Given the description of an element on the screen output the (x, y) to click on. 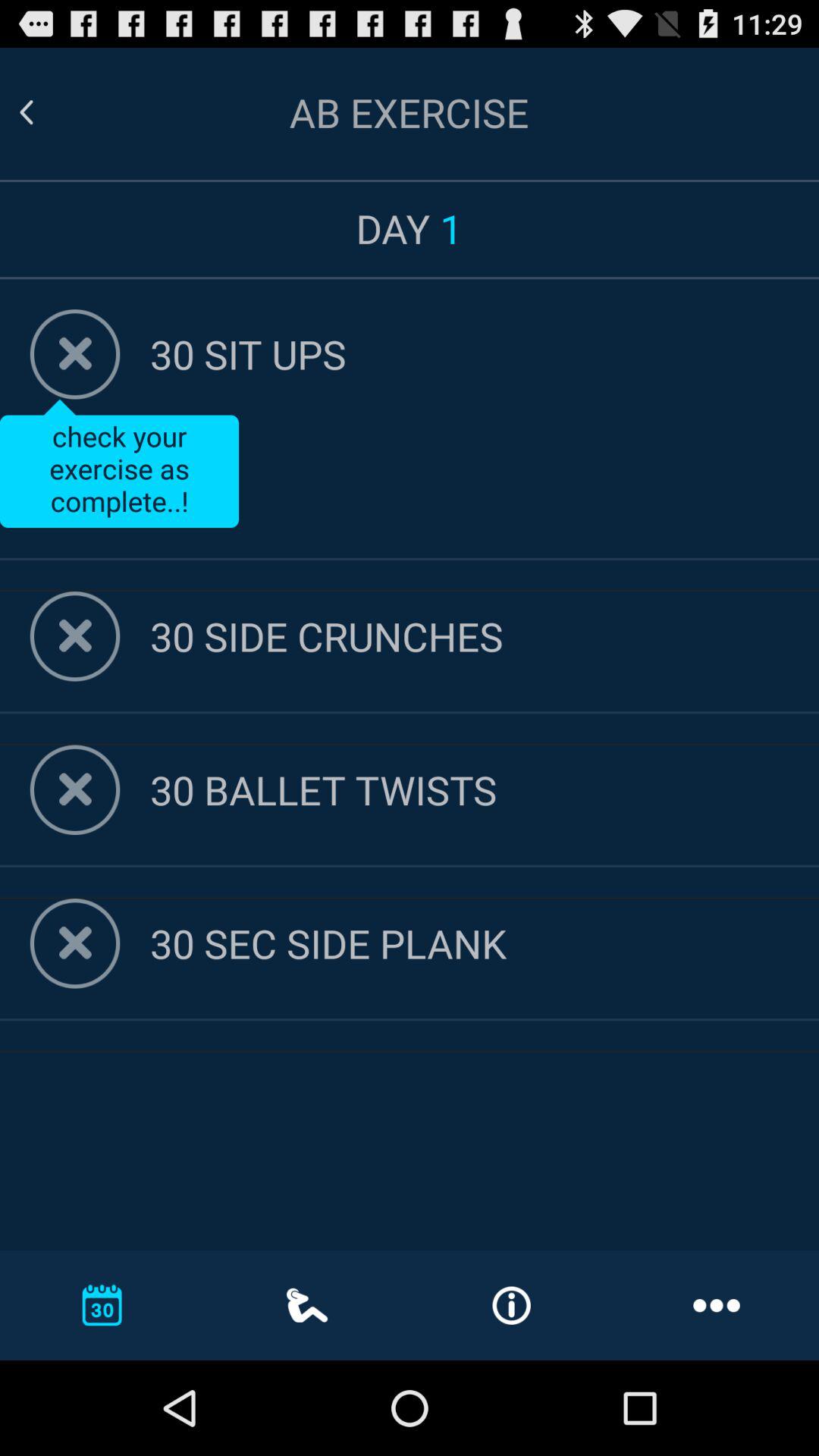
go to previous (44, 112)
